Given the description of an element on the screen output the (x, y) to click on. 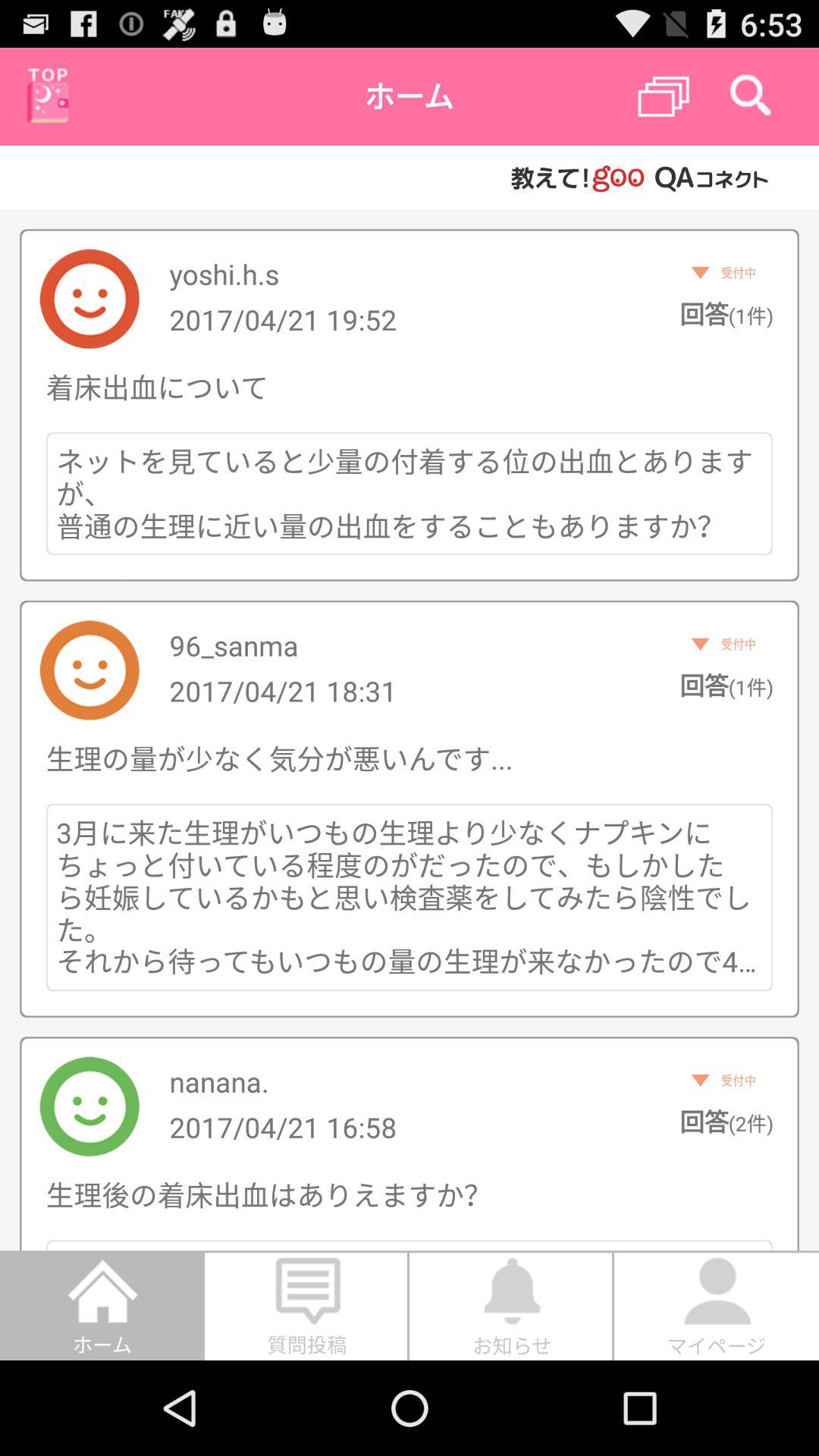
jump to yoshi.h.s item (224, 273)
